Given the description of an element on the screen output the (x, y) to click on. 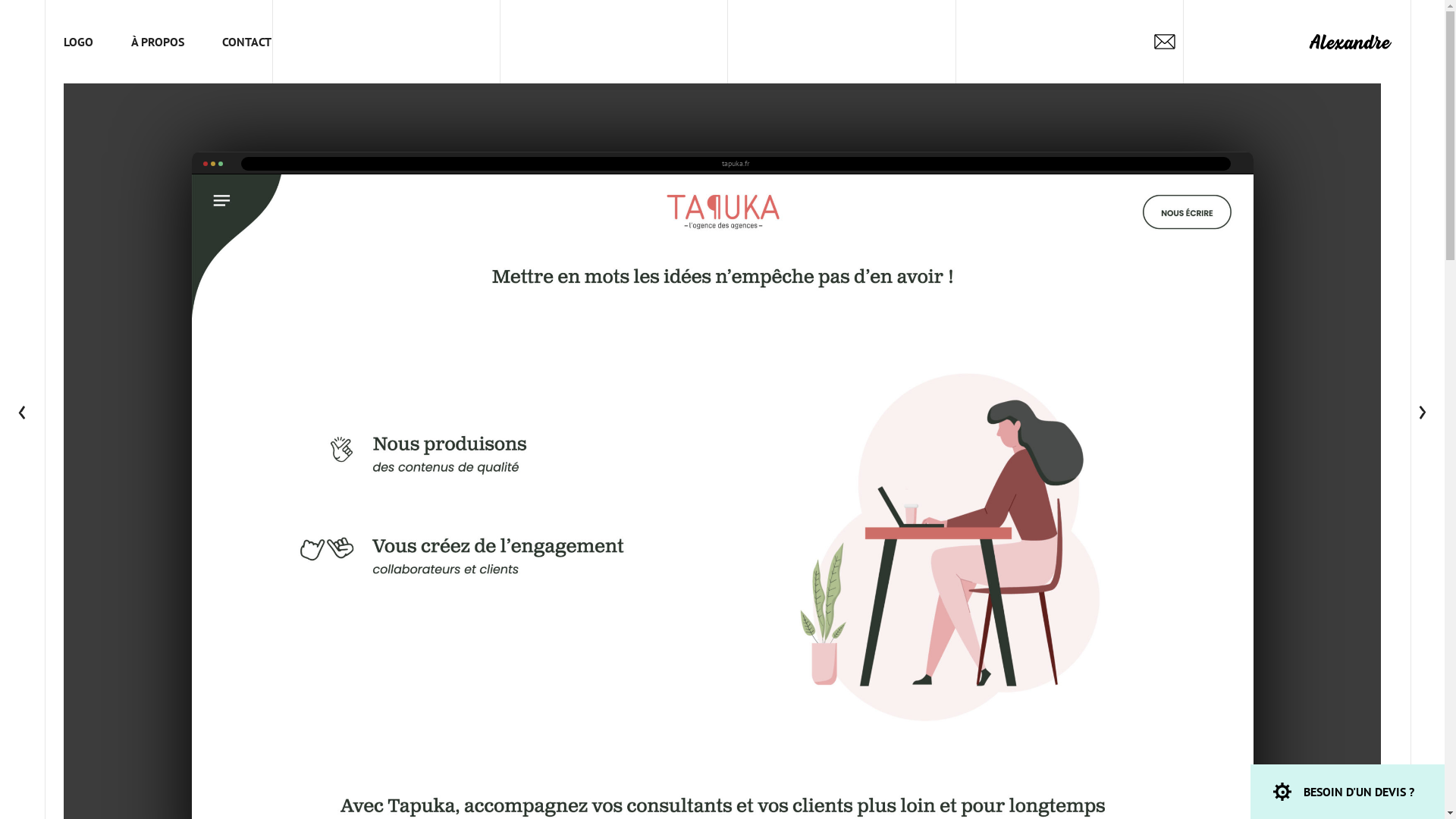
LOGO Element type: text (87, 41)
question@alexandre.cc Element type: text (1164, 41)
CONTACT Element type: text (246, 41)
